Given the description of an element on the screen output the (x, y) to click on. 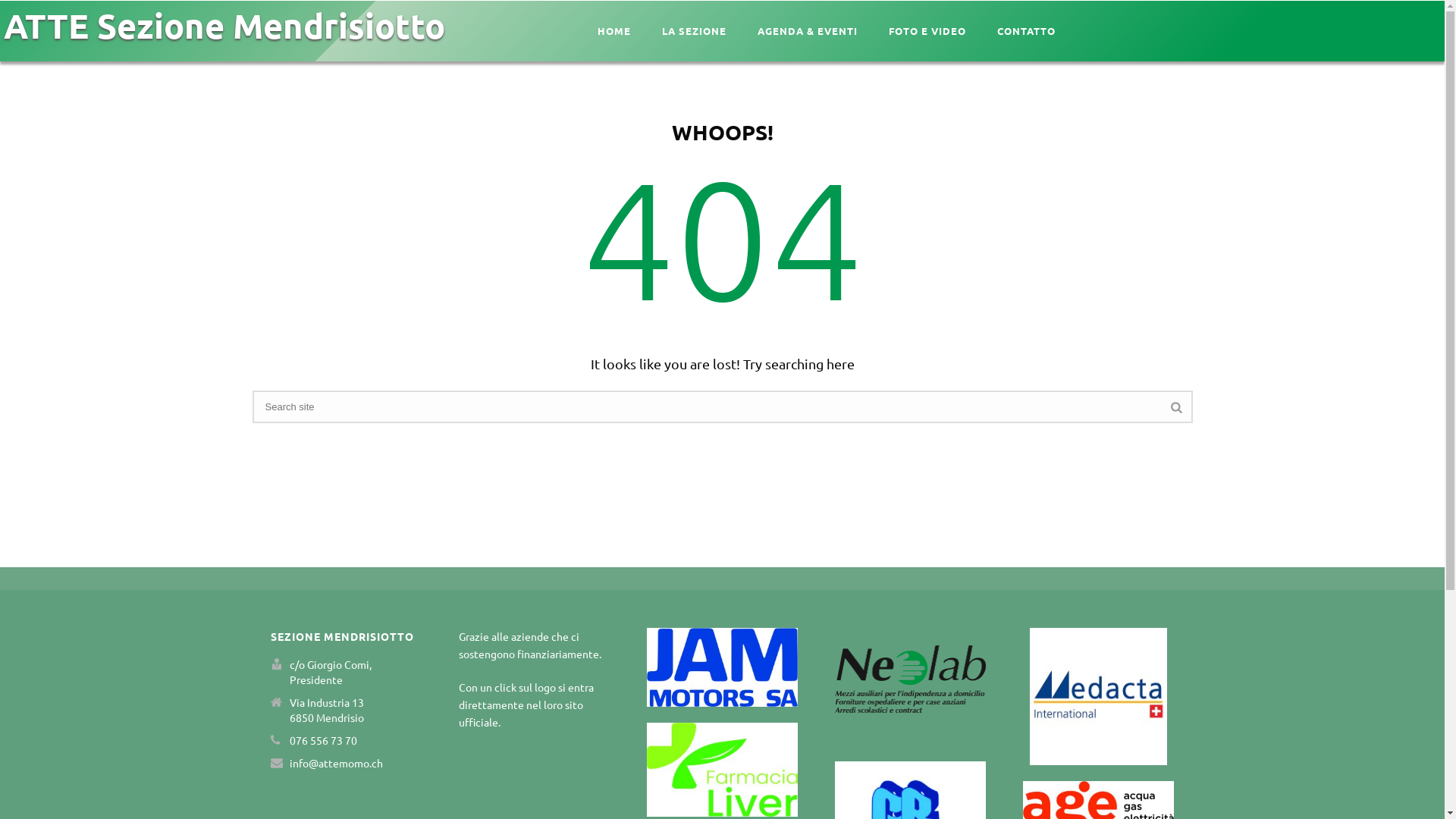
HOME Element type: text (614, 30)
CONTATTO Element type: text (1026, 30)
FOTO E VIDEO Element type: text (927, 30)
info@attemomo.ch Element type: text (335, 762)
AGENDA & EVENTI Element type: text (807, 30)
LA SEZIONE Element type: text (693, 30)
